Given the description of an element on the screen output the (x, y) to click on. 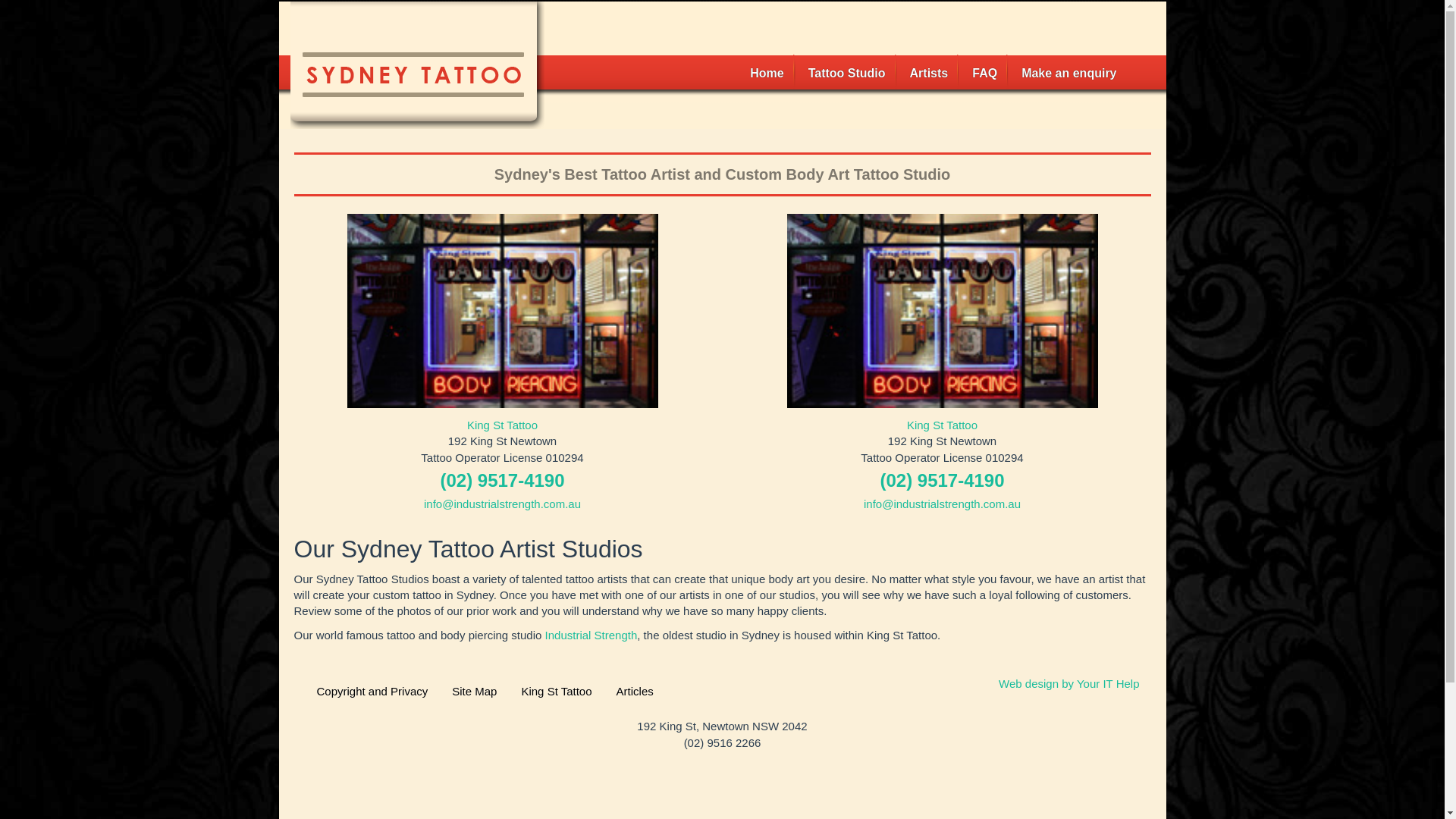
Industrial Strength Element type: text (591, 634)
(02) 9517-4190 Element type: text (941, 480)
Make an enquiry Element type: text (1068, 73)
FAQ Element type: text (984, 73)
King St Tattoo Element type: text (941, 424)
Web design by Your IT Help Element type: text (1068, 683)
Visit King Street Tattoo Element type: hover (942, 310)
Tattoo Studio Element type: text (847, 73)
Articles Element type: text (635, 690)
(02) 9517-4190 Element type: text (501, 480)
Artists Element type: text (929, 73)
Copyright and Privacy Element type: text (371, 690)
info@industrialstrength.com.au Element type: text (501, 503)
King St Tattoo Element type: text (502, 424)
Site Map Element type: text (474, 690)
Home Element type: text (766, 73)
King St Tattoo Element type: text (555, 690)
info@industrialstrength.com.au Element type: text (941, 503)
Visit King Street Tattoo Element type: hover (502, 310)
